Given the description of an element on the screen output the (x, y) to click on. 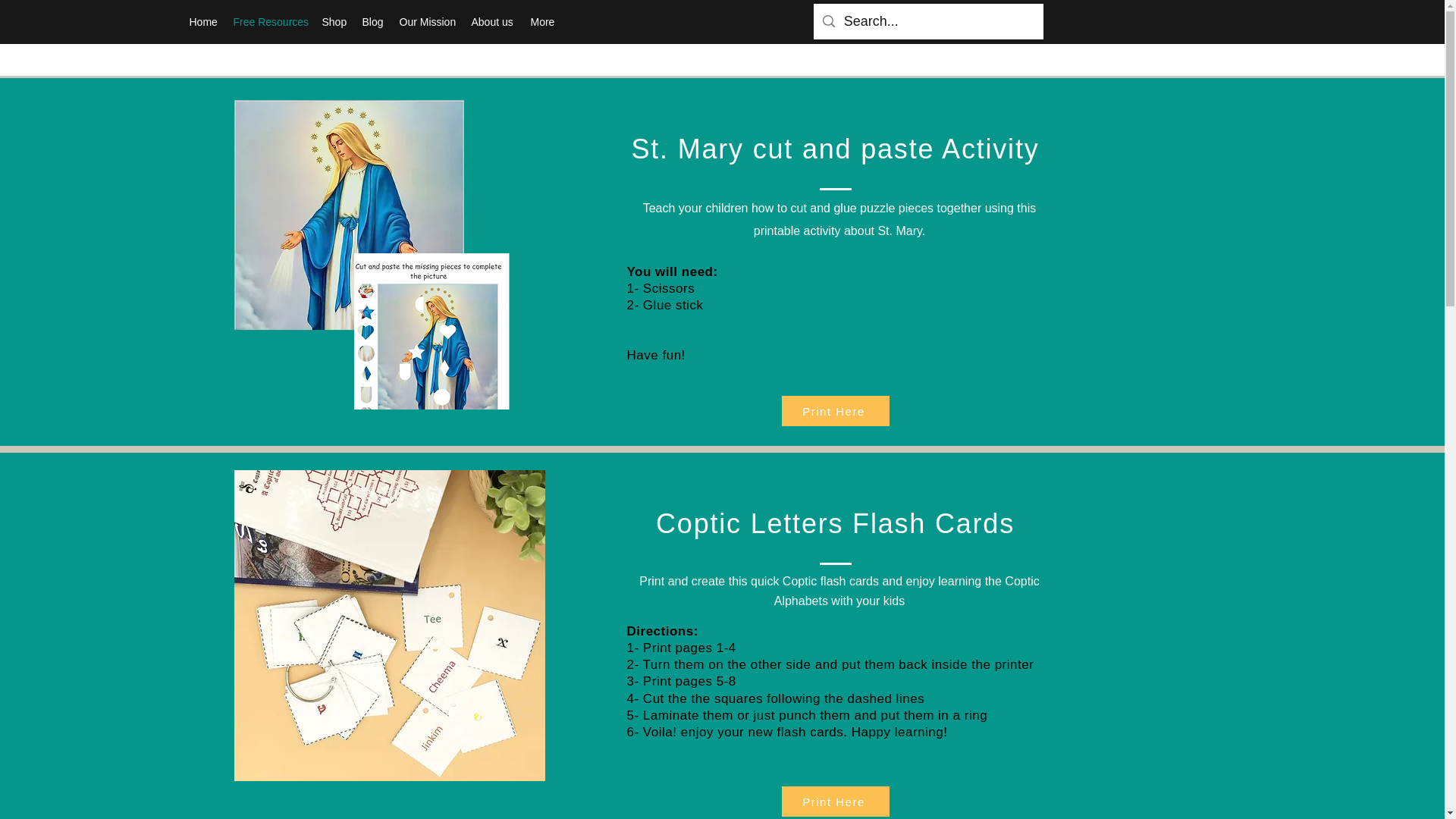
Shop (333, 21)
Print Here (834, 410)
Free Resources (269, 21)
Our Mission (427, 21)
Home (203, 21)
Print Here (834, 801)
About us (493, 21)
Blog (373, 21)
